Given the description of an element on the screen output the (x, y) to click on. 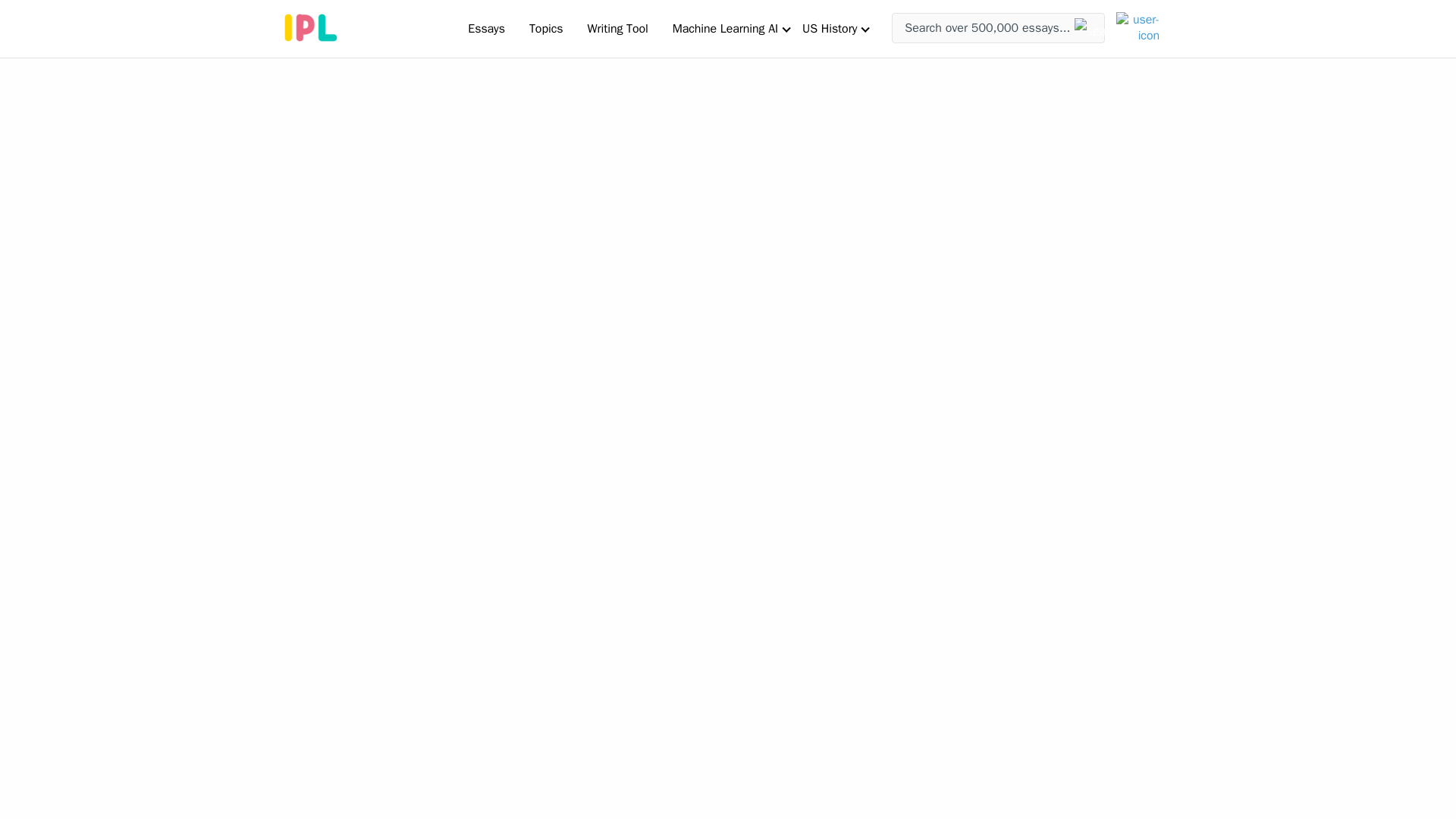
Machine Learning AI (725, 28)
Essays (485, 28)
Topics (545, 28)
Writing Tool (617, 28)
US History (829, 28)
